Given the description of an element on the screen output the (x, y) to click on. 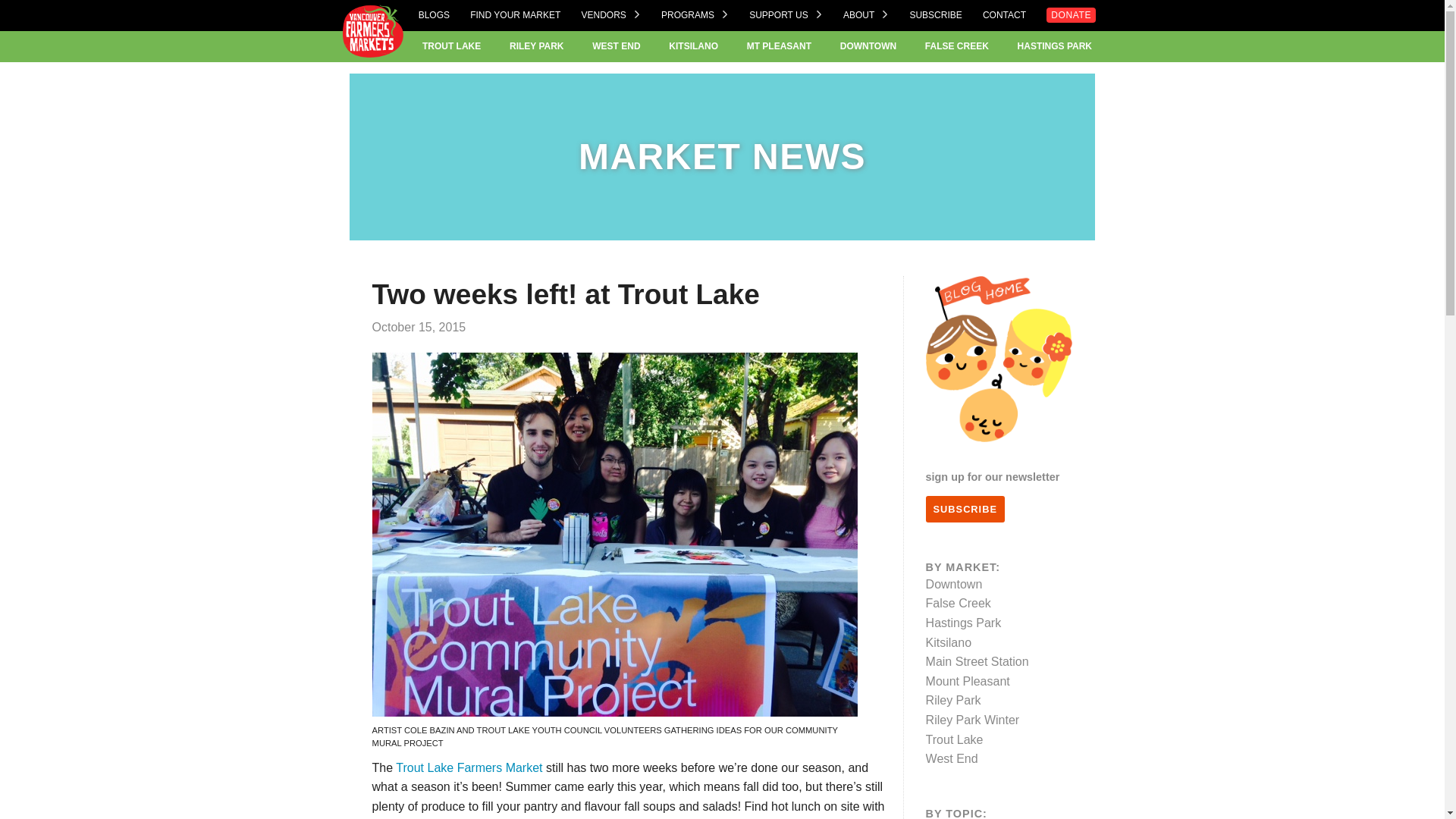
RILEY PARK (536, 45)
BLOGS (434, 14)
MT PLEASANT (778, 45)
CONTACT (1004, 14)
WEST END (616, 45)
FIND YOUR MARKET (515, 14)
FALSE CREEK (956, 45)
VENDORS (610, 14)
DONATE (1071, 14)
PROGRAMS (695, 14)
DOWNTOWN (868, 45)
SUBSCRIBE (934, 14)
HASTINGS PARK (1054, 45)
TROUT LAKE (451, 45)
KITSILANO (692, 45)
